Given the description of an element on the screen output the (x, y) to click on. 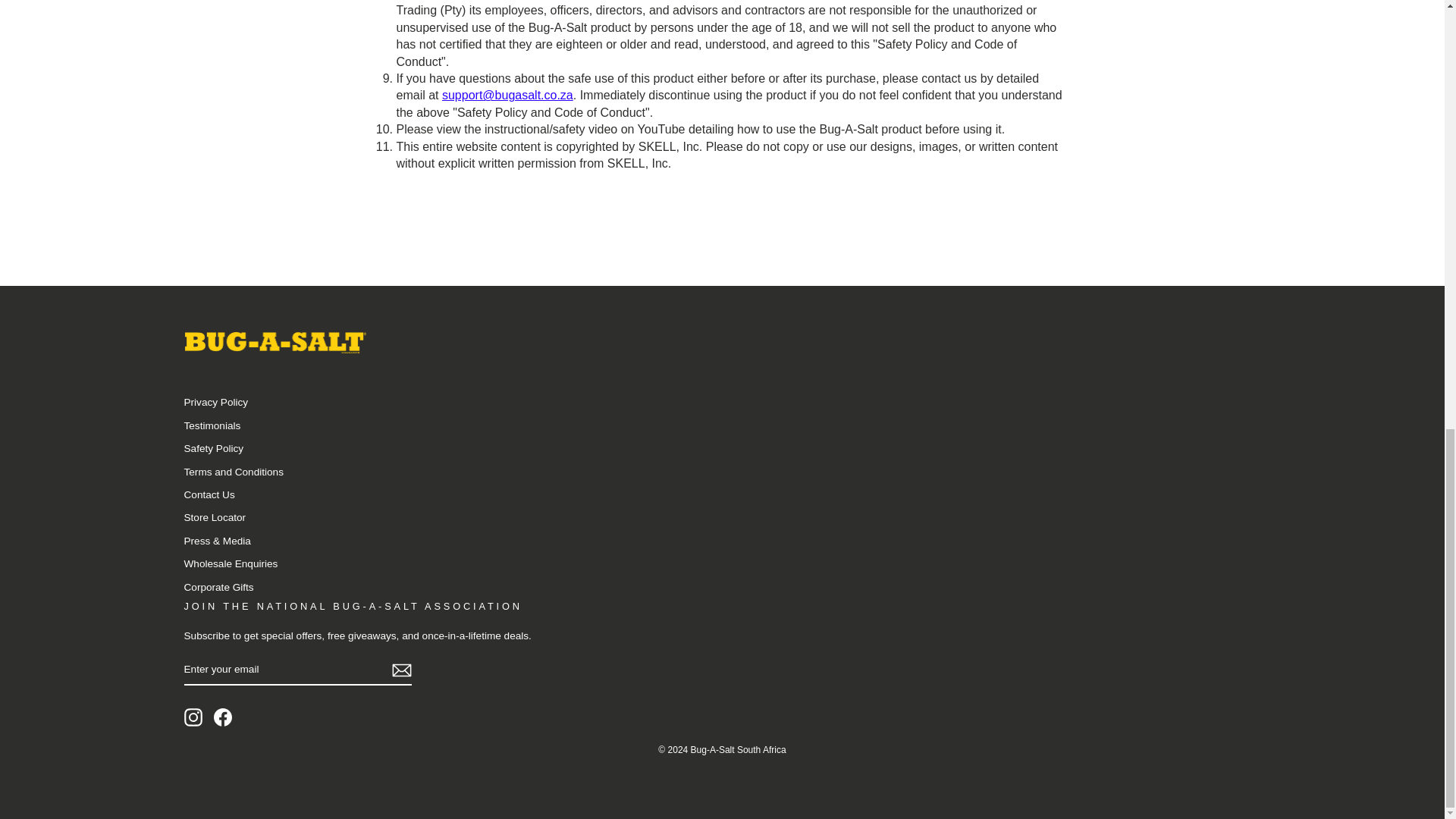
Facebook (222, 717)
Privacy Policy (215, 402)
Contact Us (208, 494)
Testimonials (211, 425)
Bug-A-Salt South Africa on Instagram (192, 717)
Terms and Conditions (232, 471)
Wholesale Enquiries (230, 563)
Instagram (192, 717)
Safety Policy (213, 448)
Store Locator (214, 516)
